Given the description of an element on the screen output the (x, y) to click on. 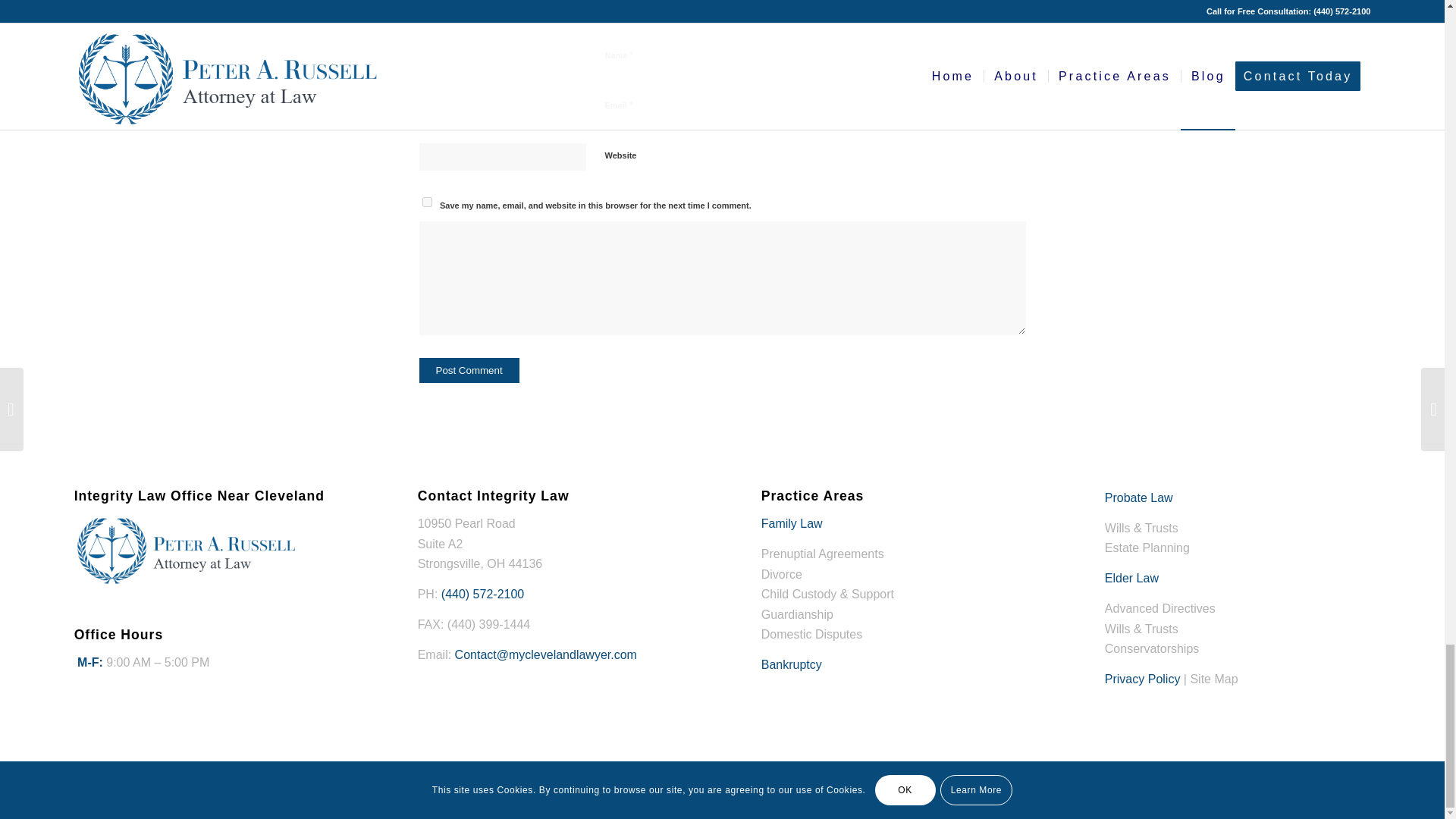
Post Comment (468, 369)
Elder Law (1131, 577)
Probate Law (1139, 497)
yes (426, 202)
Post Comment (468, 369)
Privacy Policy (1142, 678)
Bankruptcy (791, 664)
Family Law (791, 522)
